Given the description of an element on the screen output the (x, y) to click on. 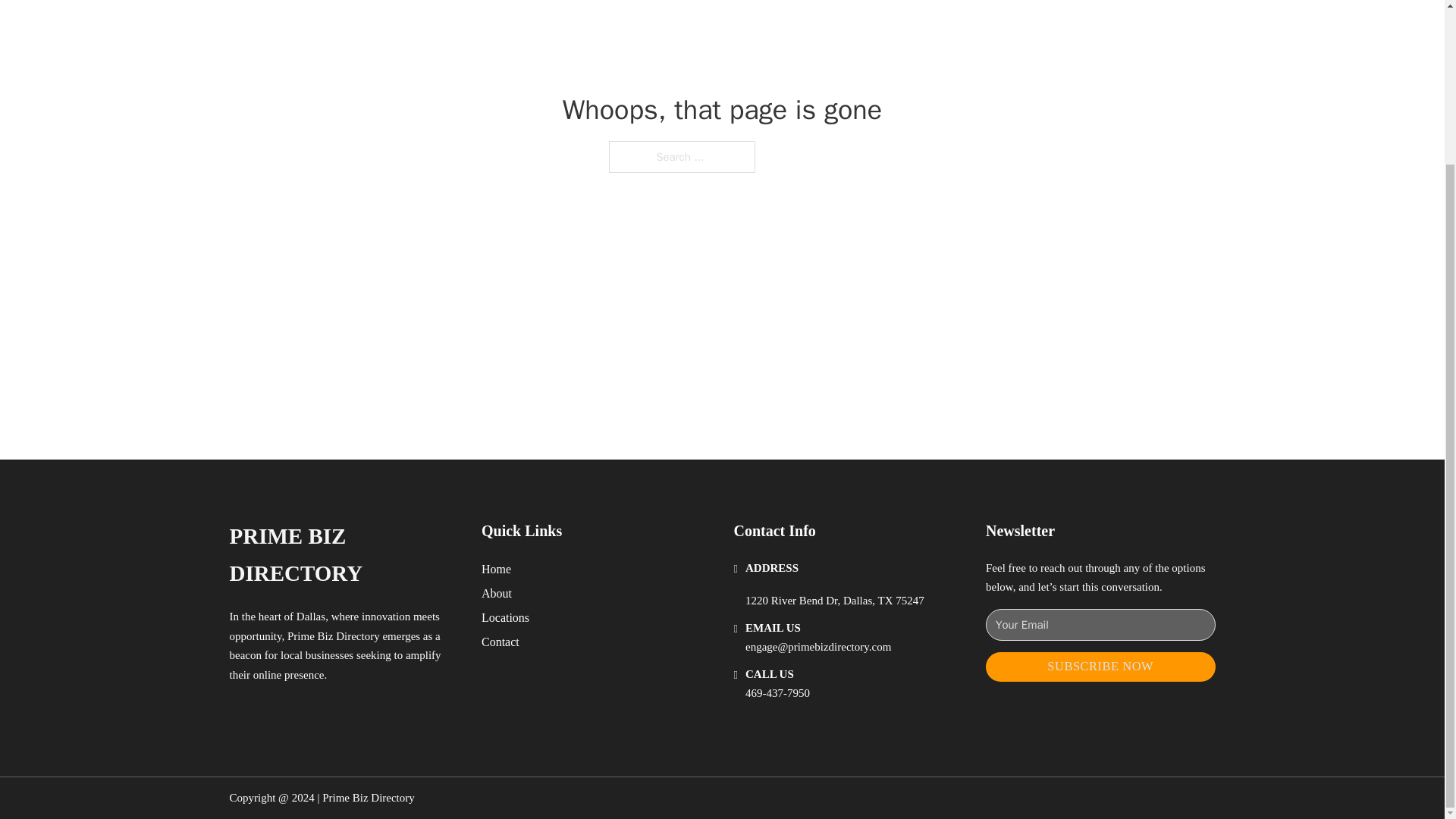
About (496, 593)
Locations (505, 617)
469-437-7950 (777, 693)
PRIME BIZ DIRECTORY (343, 554)
SUBSCRIBE NOW (1100, 666)
Contact (500, 641)
Home (496, 568)
